Given the description of an element on the screen output the (x, y) to click on. 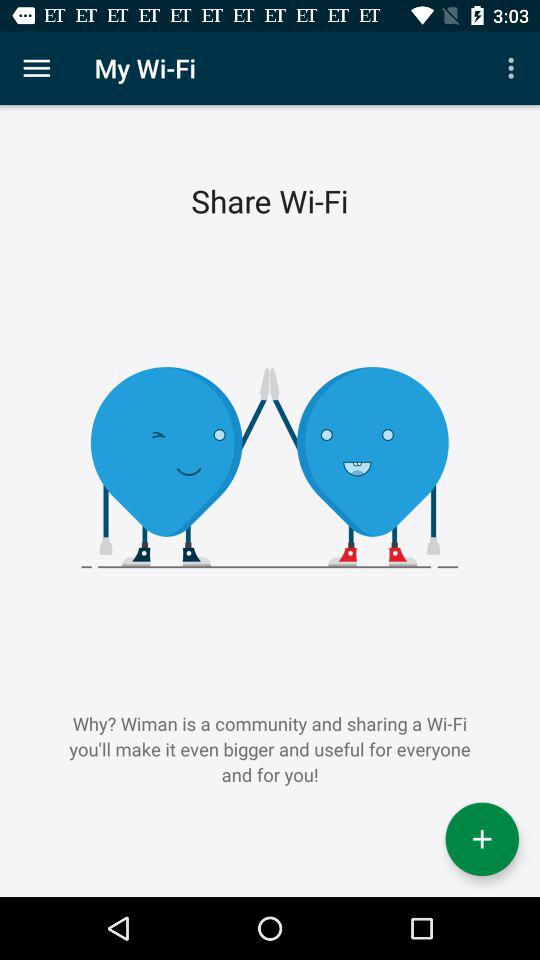
add network (482, 839)
